Given the description of an element on the screen output the (x, y) to click on. 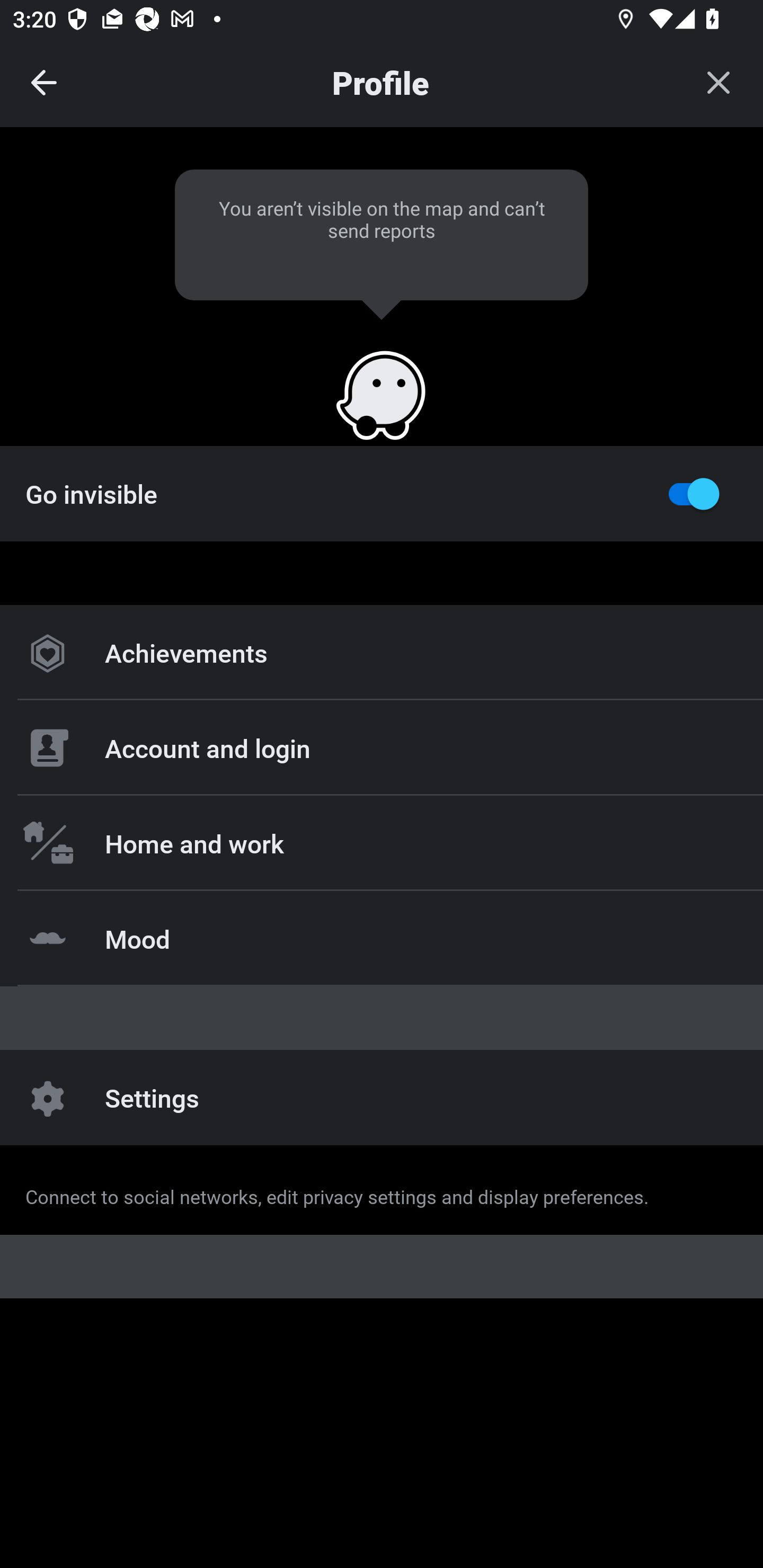
Go invisible (381, 492)
ACTION_CELL_ICON Settings ACTION_CELL_TEXT (381, 620)
Account and login (381, 747)
Home and work (381, 842)
Mood (381, 938)
Settings (381, 1097)
